Given the description of an element on the screen output the (x, y) to click on. 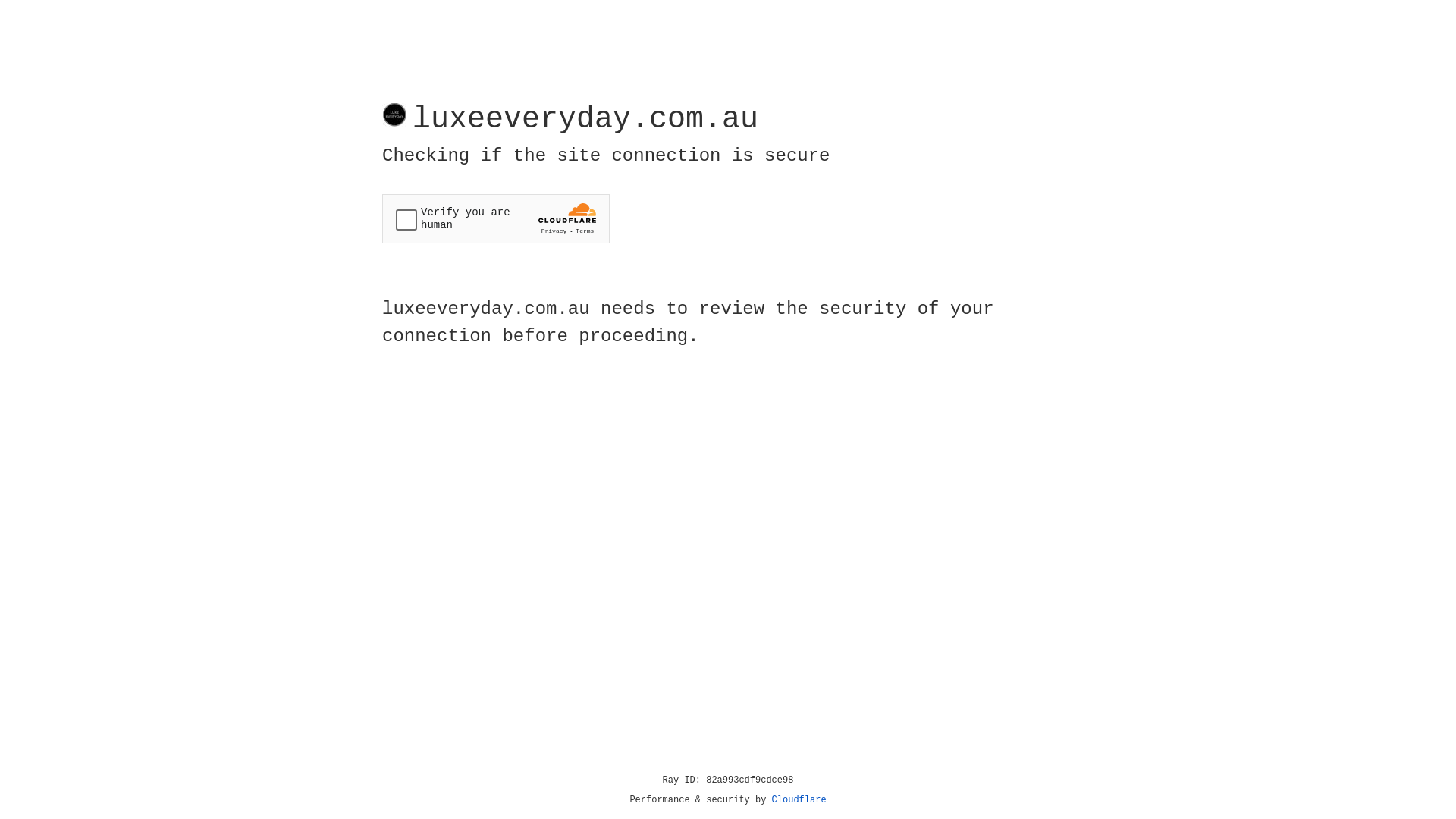
Cloudflare Element type: text (798, 799)
Widget containing a Cloudflare security challenge Element type: hover (495, 218)
